Given the description of an element on the screen output the (x, y) to click on. 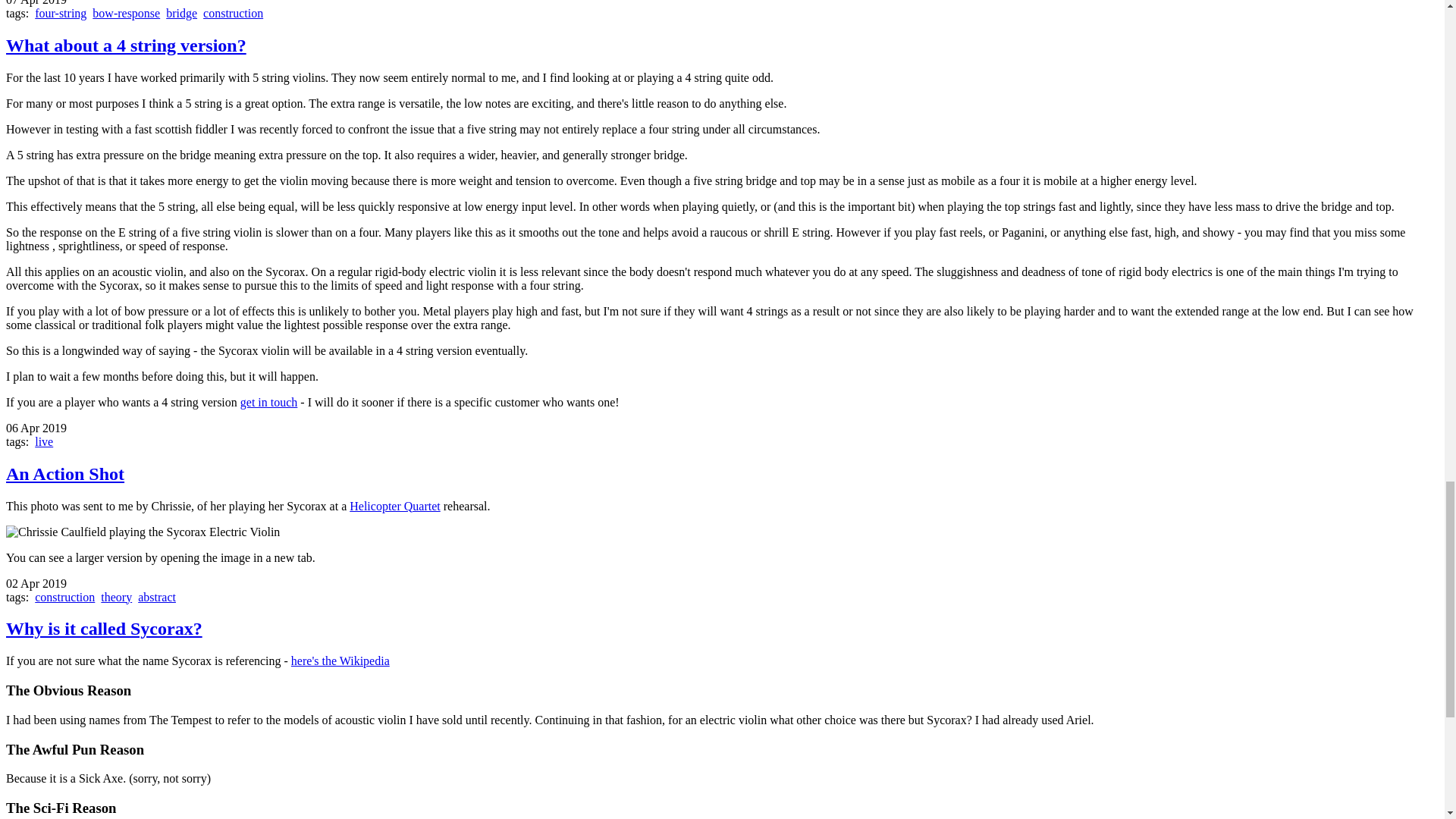
Chrissie Caulfield playing her Sycorax Electric Violin (142, 531)
